Given the description of an element on the screen output the (x, y) to click on. 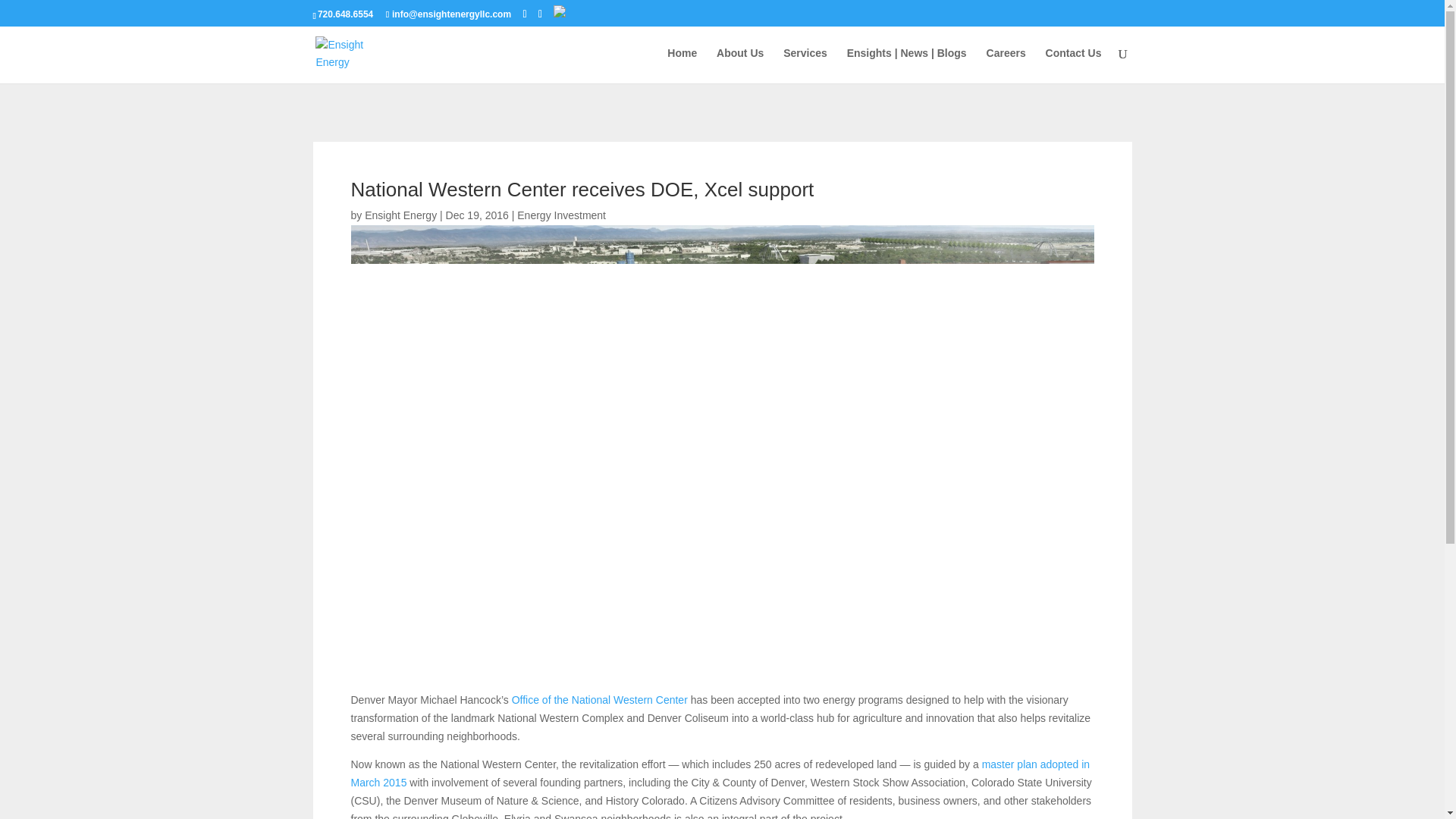
Services (805, 65)
Careers (1006, 65)
About Us (739, 65)
Energy Investment (560, 215)
master plan adopted in March 2015 (719, 773)
Contact Us (1073, 65)
Posts by Ensight Energy (400, 215)
Office of the National Western Center (599, 699)
Ensight Energy (400, 215)
